Given the description of an element on the screen output the (x, y) to click on. 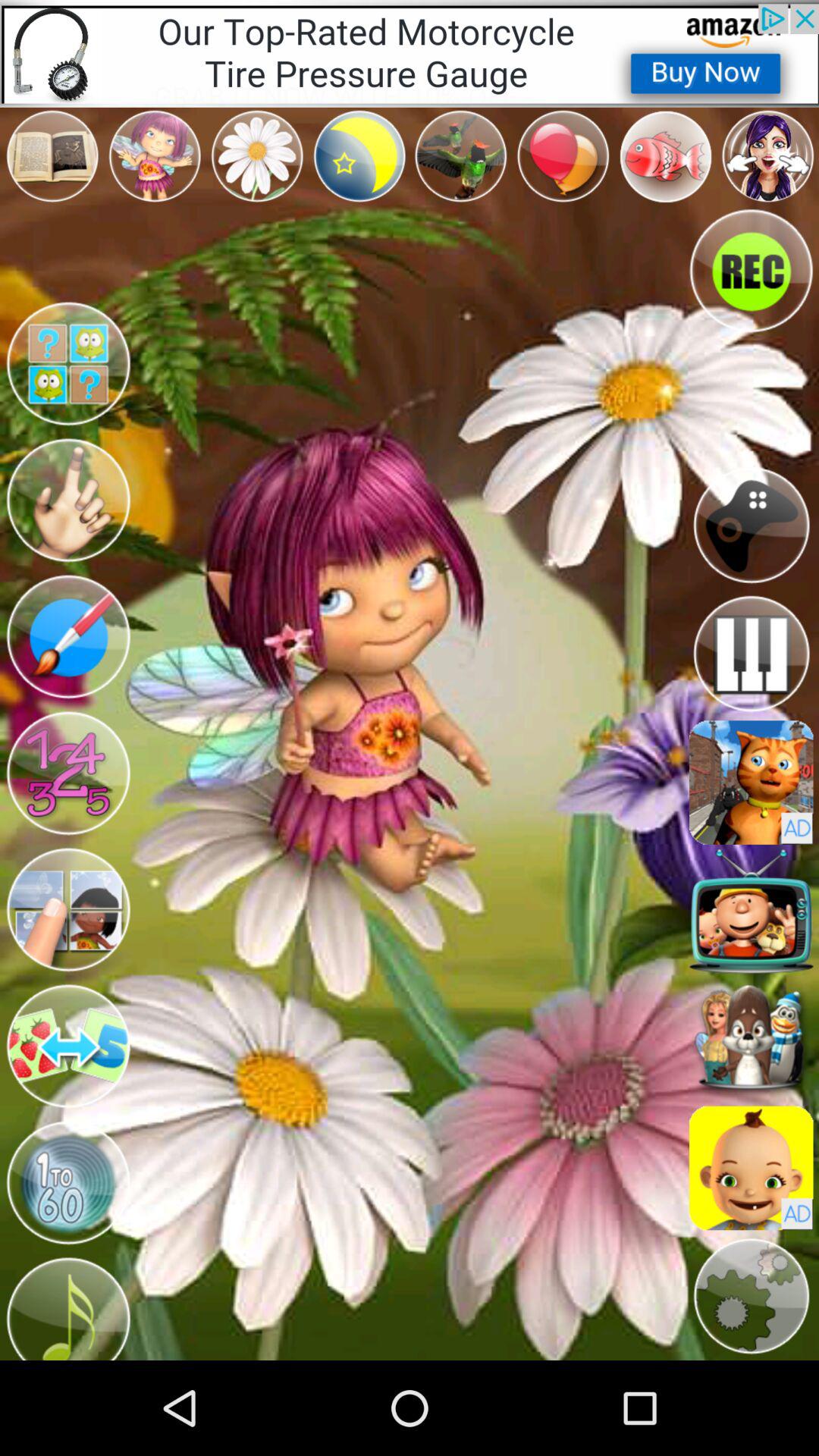
use pencil (68, 636)
